Given the description of an element on the screen output the (x, y) to click on. 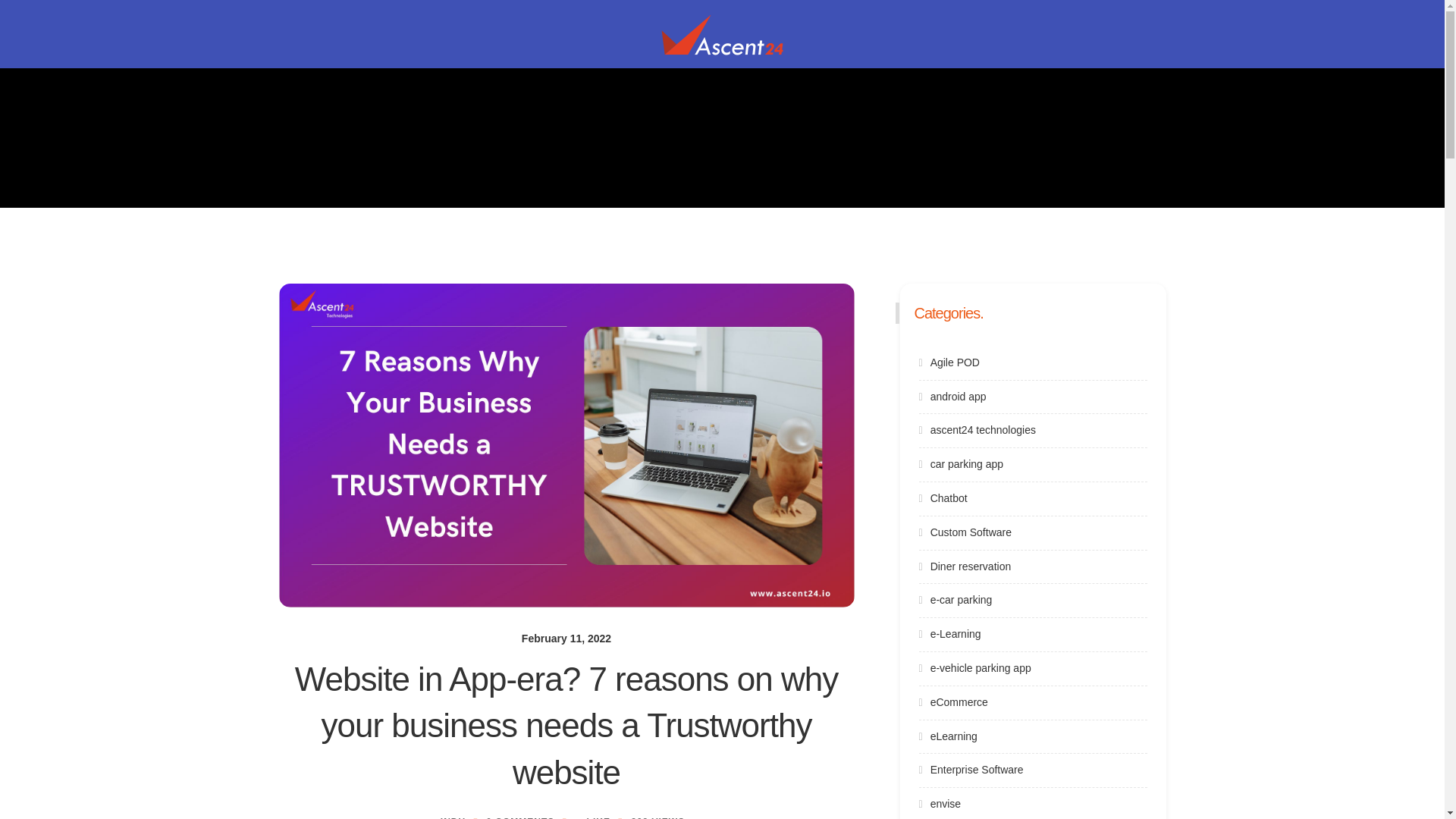
LIKE (592, 817)
Like (592, 817)
0 COMMENTS (520, 817)
INDU (453, 817)
